Given the description of an element on the screen output the (x, y) to click on. 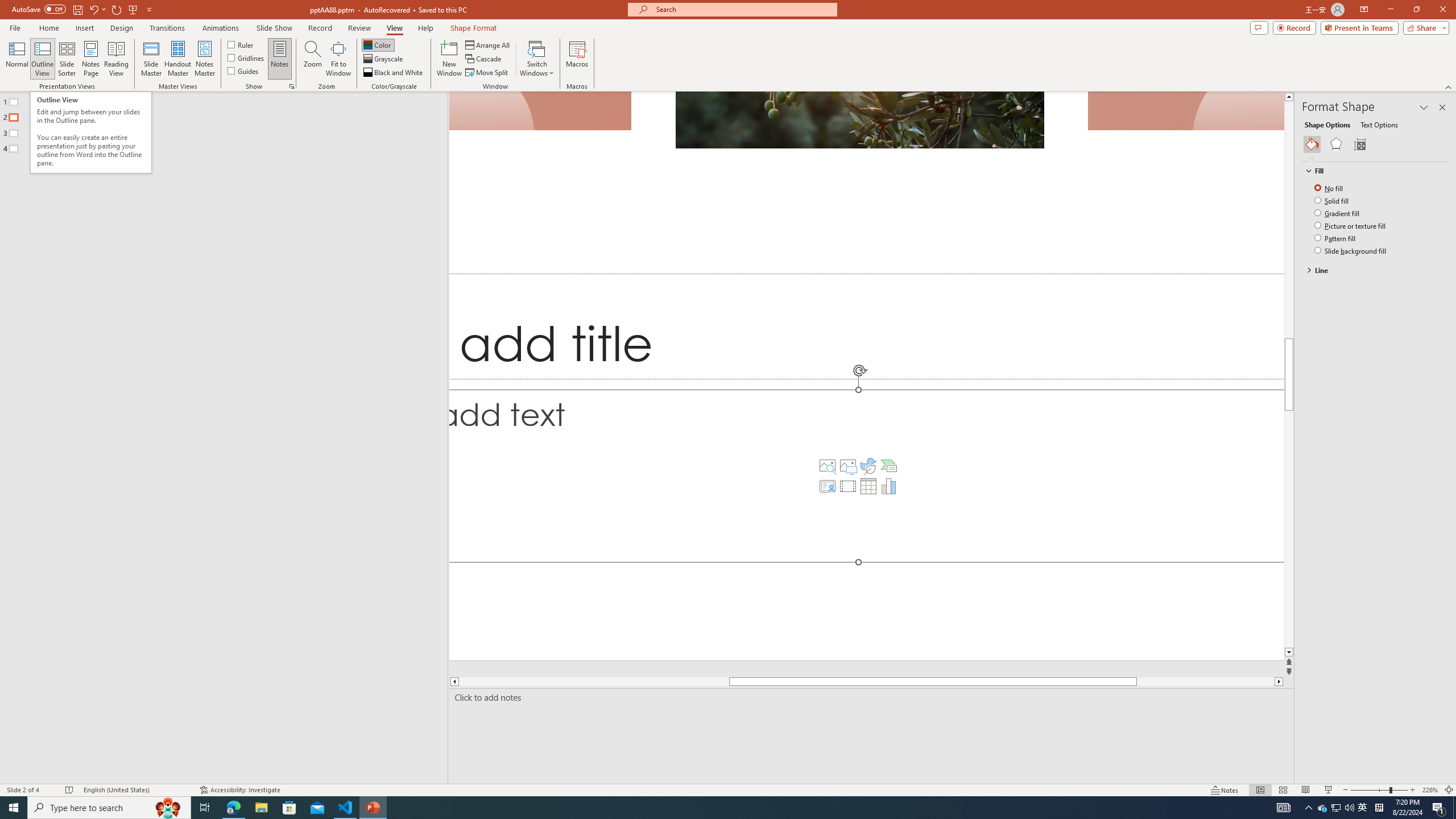
Handout Master (177, 58)
Slide background fill (1351, 249)
Macros (576, 58)
Grid Settings... (291, 85)
Ruler (241, 44)
Camera 7, No camera detected. (1185, 111)
Zoom 226% (1430, 790)
